Given the description of an element on the screen output the (x, y) to click on. 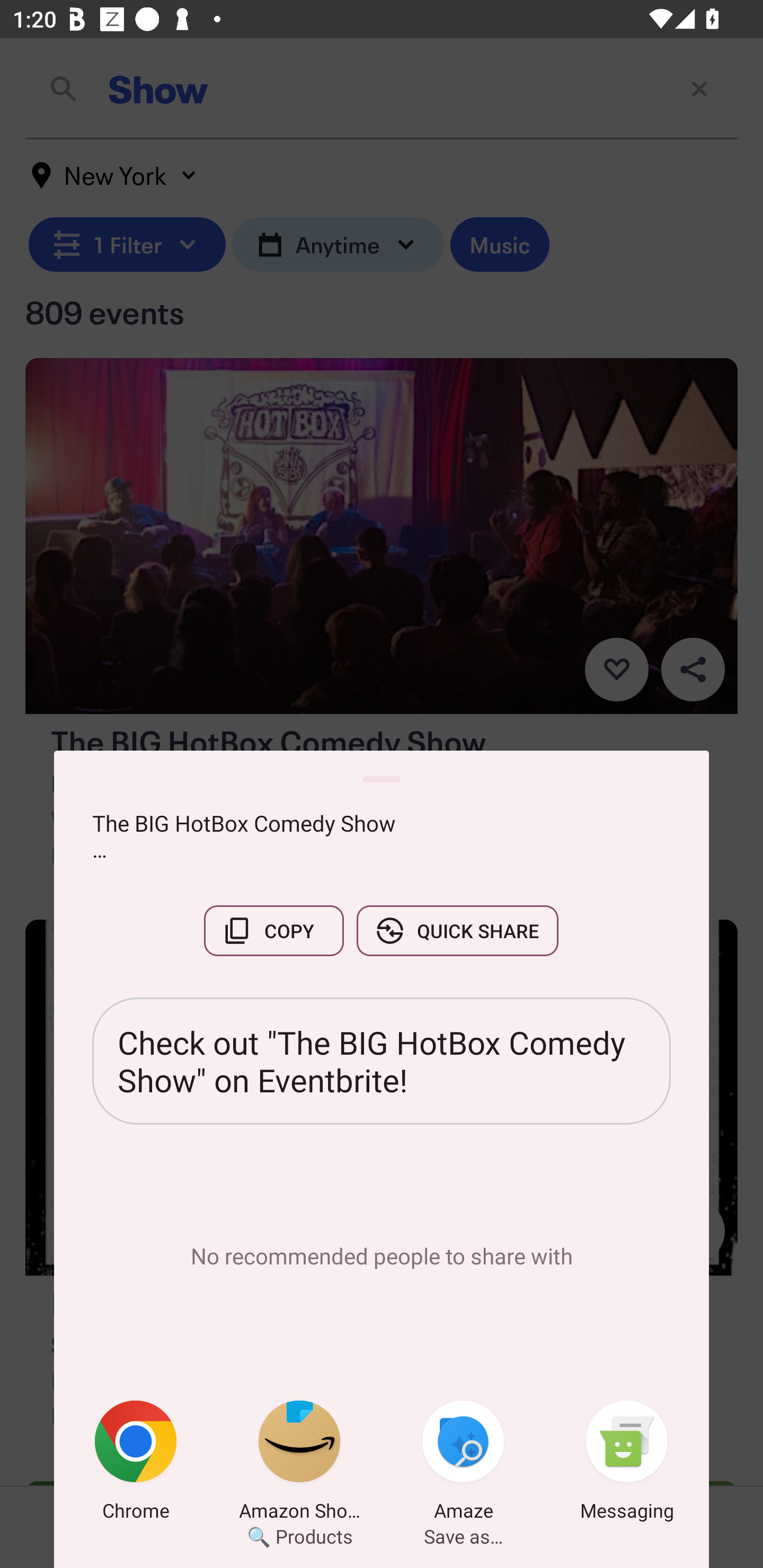
COPY (273, 930)
QUICK SHARE (457, 930)
Chrome (135, 1463)
Amazon Shopping 🔍 Products (299, 1463)
Amaze Save as… (463, 1463)
Messaging (626, 1463)
